Given the description of an element on the screen output the (x, y) to click on. 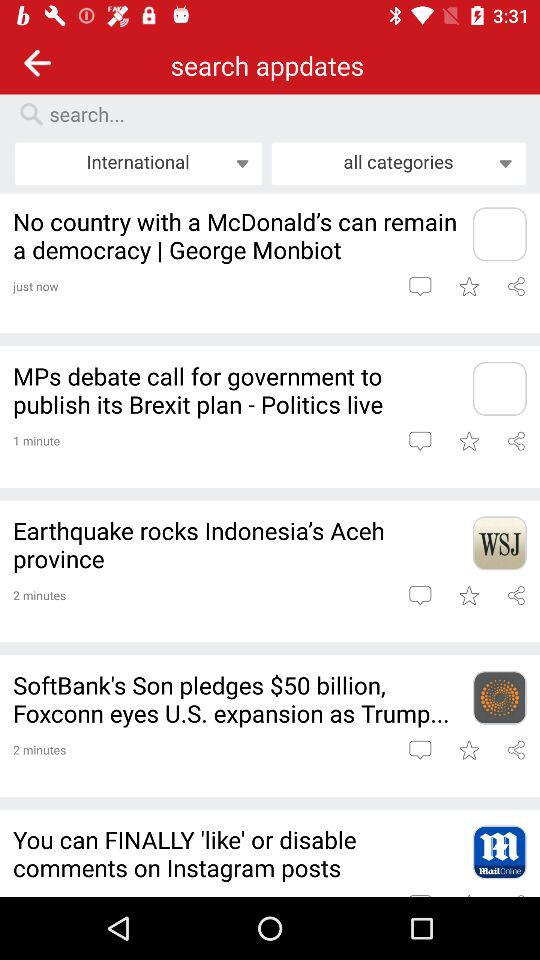
share the first article (515, 286)
